Given the description of an element on the screen output the (x, y) to click on. 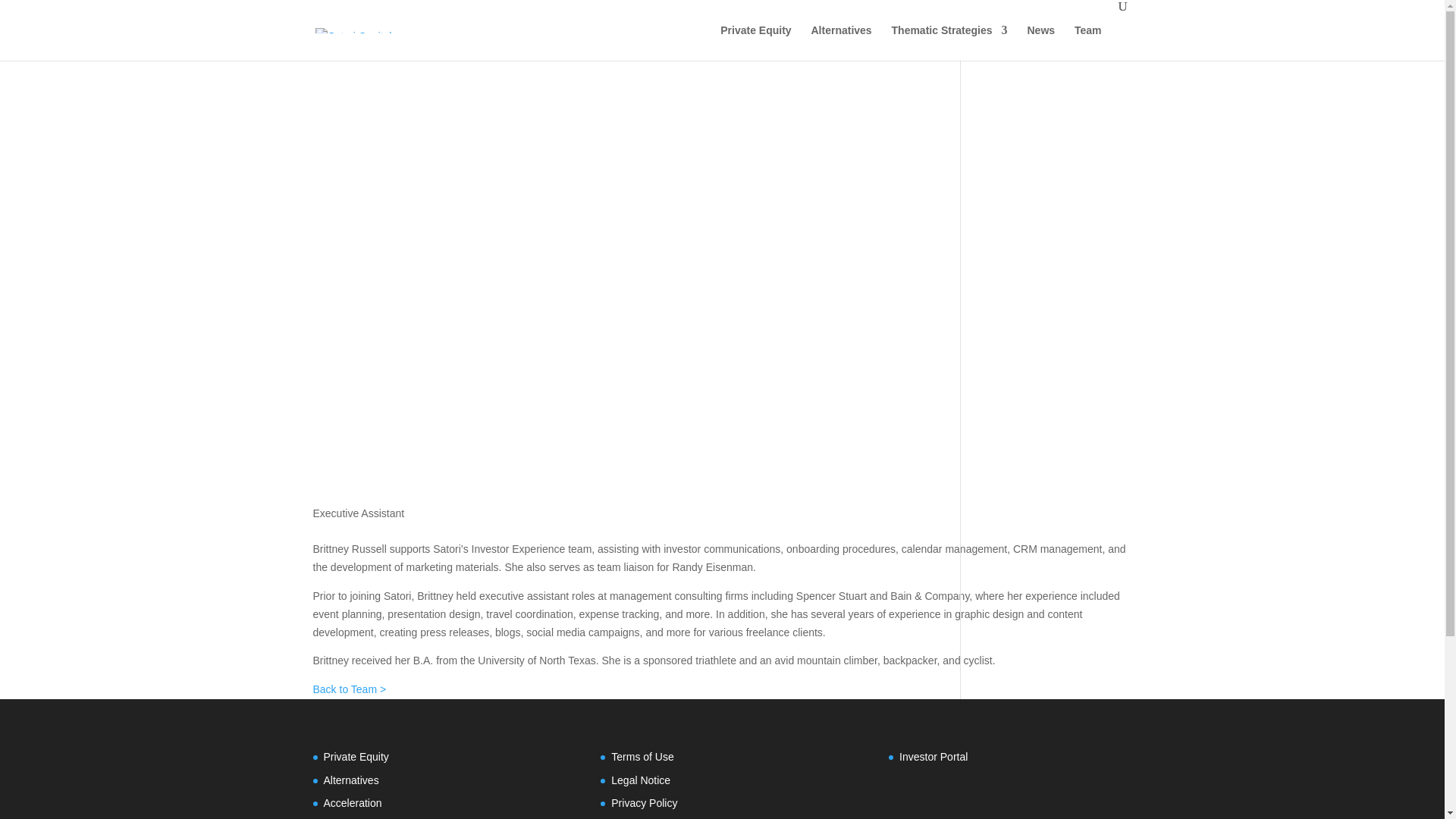
Private Equity (755, 42)
Thematic Strategies (949, 42)
Private Equity (355, 756)
682-503-1247 (345, 531)
Privacy Policy (644, 802)
Terms of Use (641, 756)
Acceleration (352, 802)
Legal Notice (640, 779)
Alternatives (350, 779)
Alternatives (840, 42)
